Given the description of an element on the screen output the (x, y) to click on. 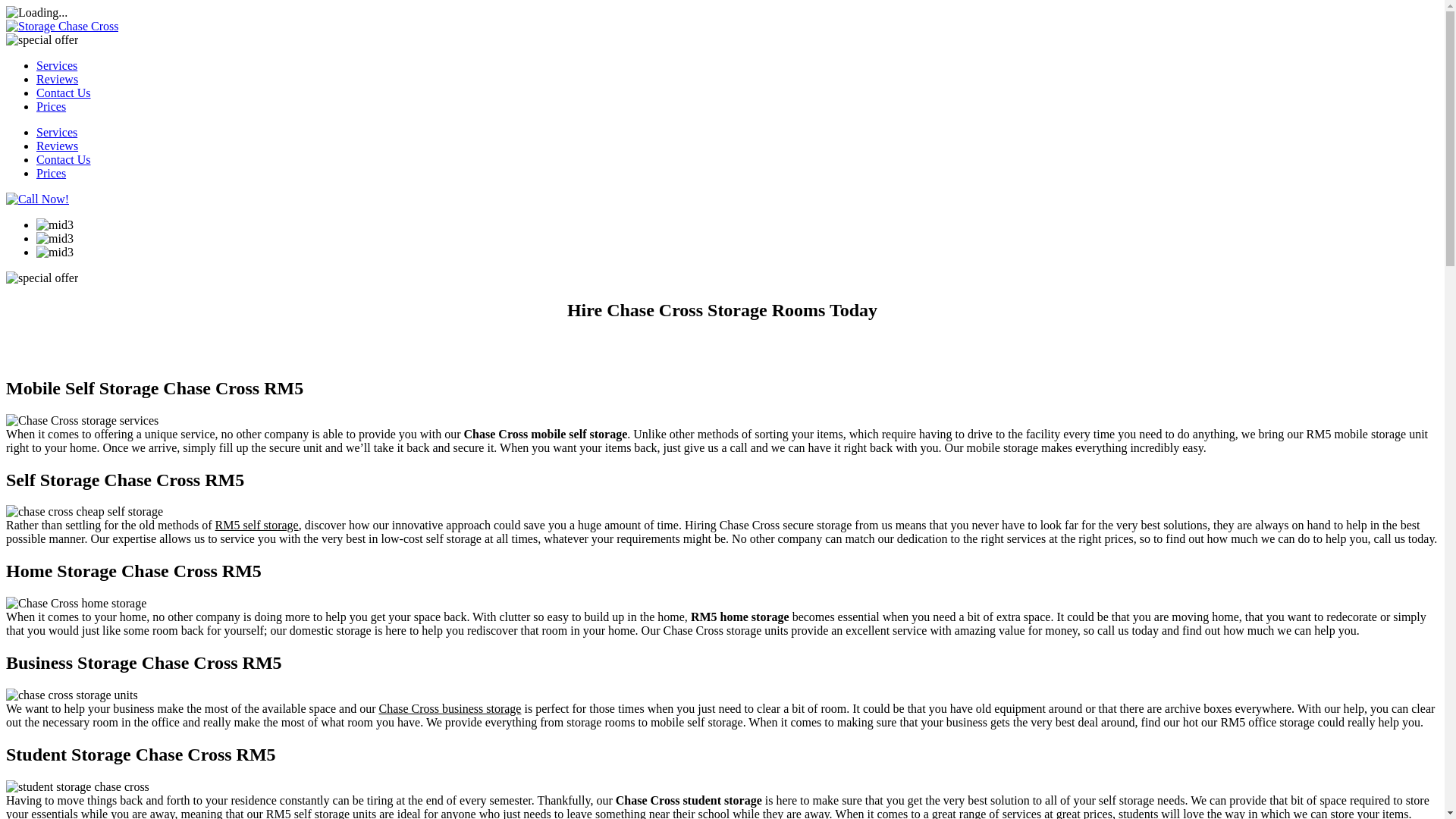
Reviews (57, 145)
Prices (50, 106)
Call Now! (36, 198)
Contact Us (63, 159)
Contact Us (63, 159)
Services (56, 132)
Reviews (57, 145)
Reviews (57, 78)
Prices (50, 173)
Services (56, 65)
Services (56, 132)
Prices (50, 106)
Contact Us (63, 92)
Prices (50, 173)
Reviews (57, 78)
